Given the description of an element on the screen output the (x, y) to click on. 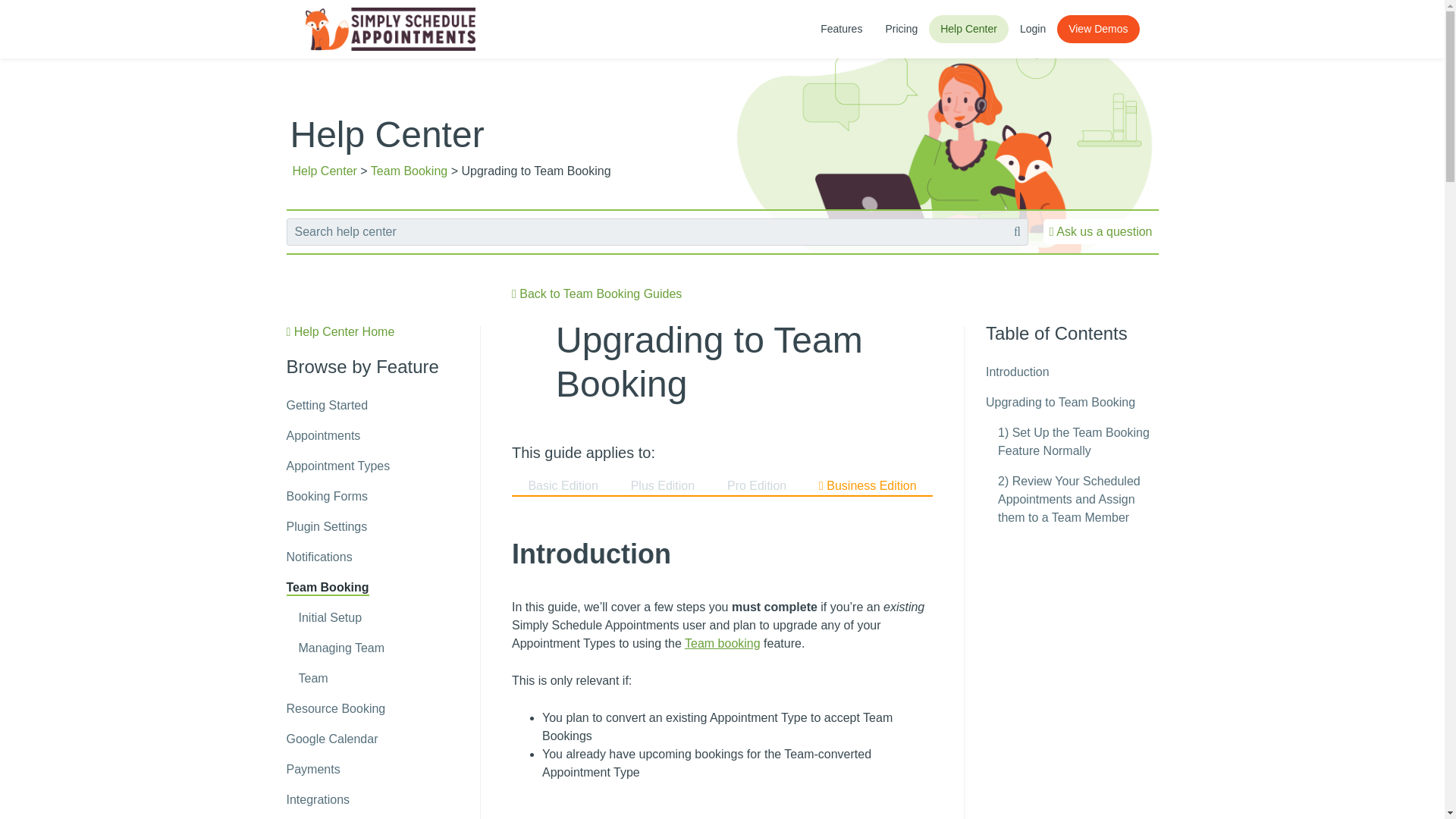
Help Center (324, 170)
Managing Team (341, 648)
Plugin Settings (327, 526)
Appointments (323, 436)
Ask us a question (1100, 231)
Search (34, 13)
Initial Setup (330, 617)
Team Booking (408, 170)
Team Booking (327, 588)
Pricing (900, 29)
